Given the description of an element on the screen output the (x, y) to click on. 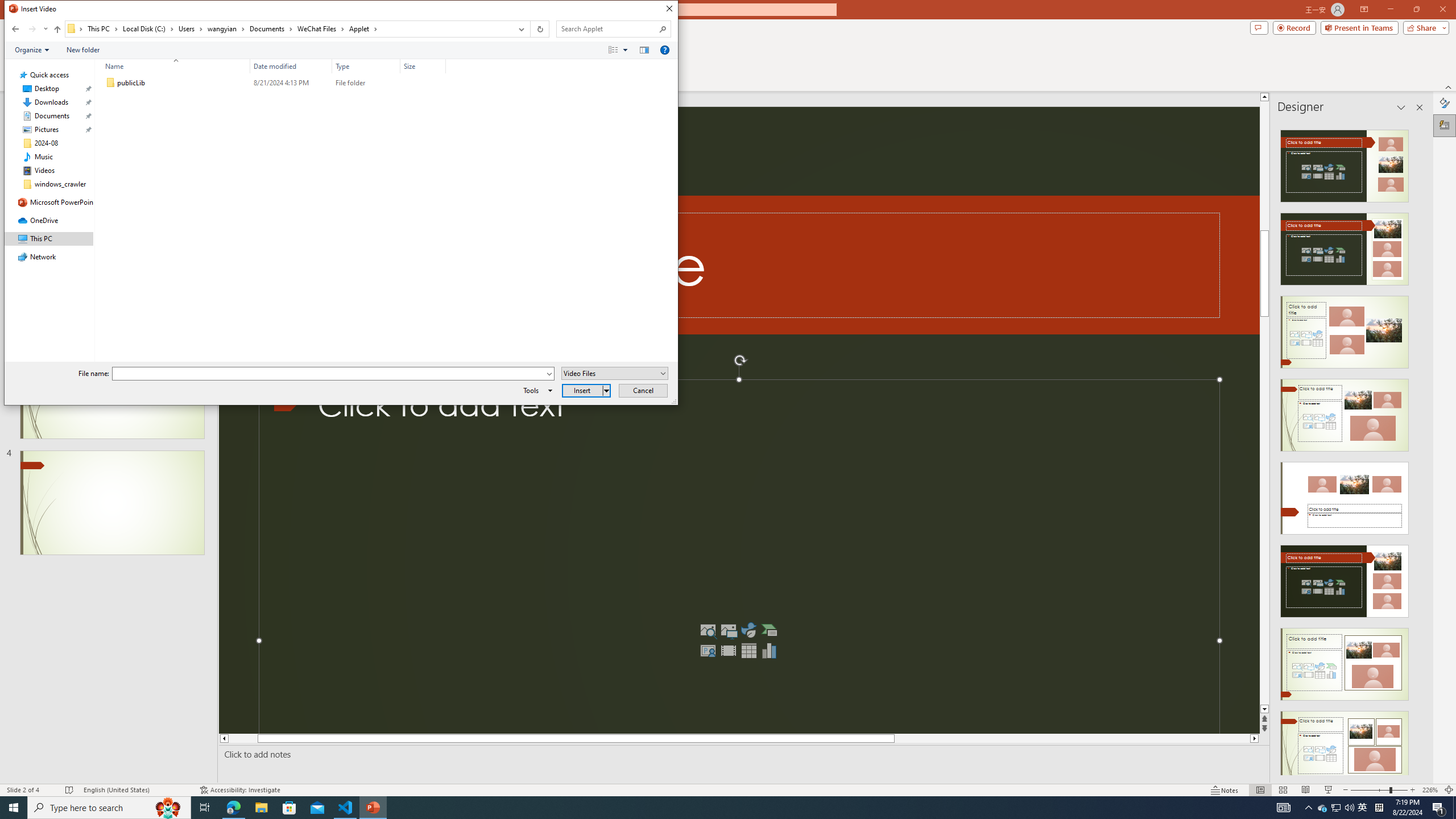
Size (422, 65)
Insert Cameo (707, 650)
Recent locations (44, 28)
Date modified (290, 82)
Tools (535, 390)
Up to "WeChat Files" (Alt + Up Arrow) (57, 29)
